Given the description of an element on the screen output the (x, y) to click on. 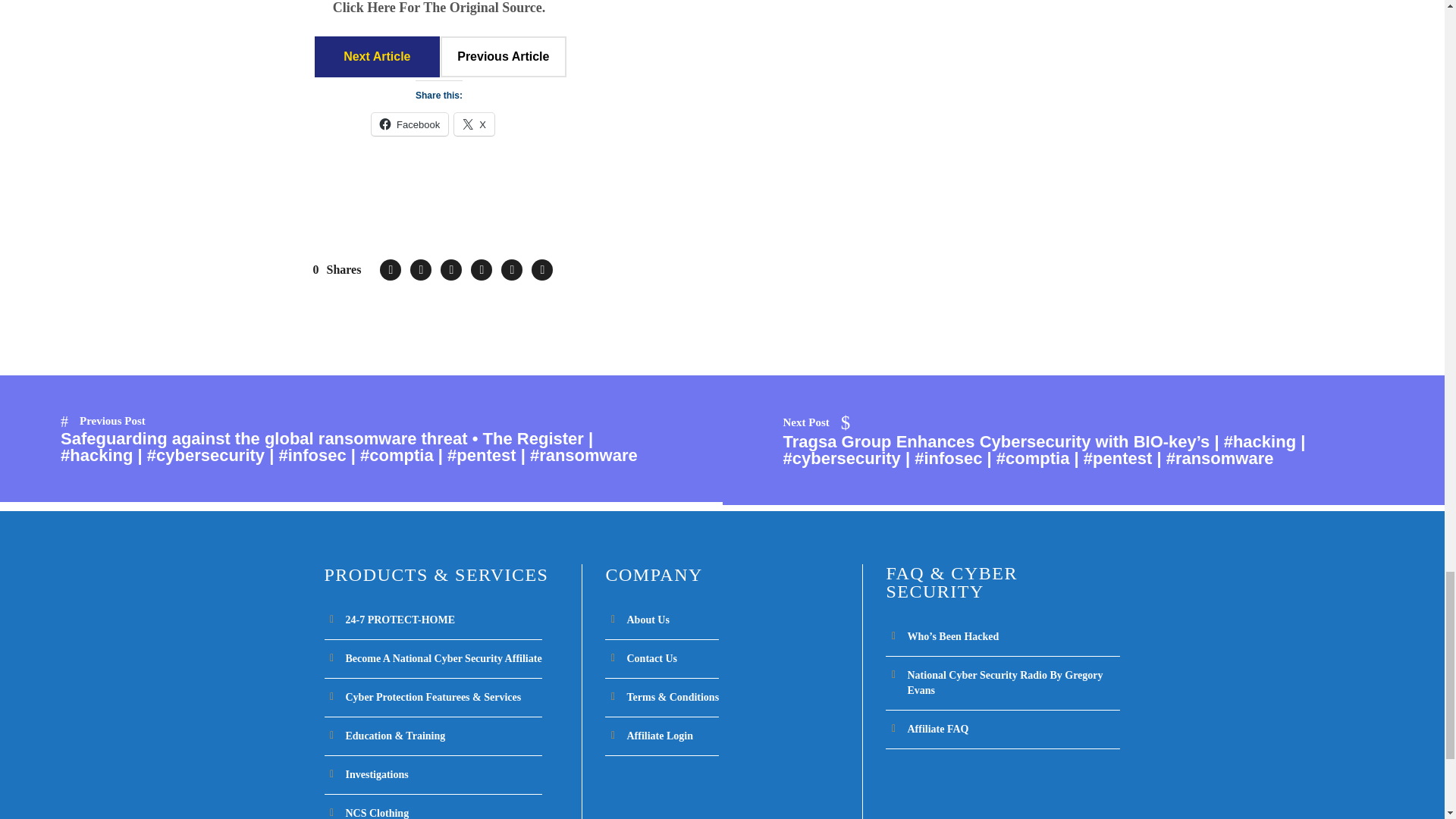
Click to share on X (474, 124)
Click to share on Facebook (409, 124)
